Given the description of an element on the screen output the (x, y) to click on. 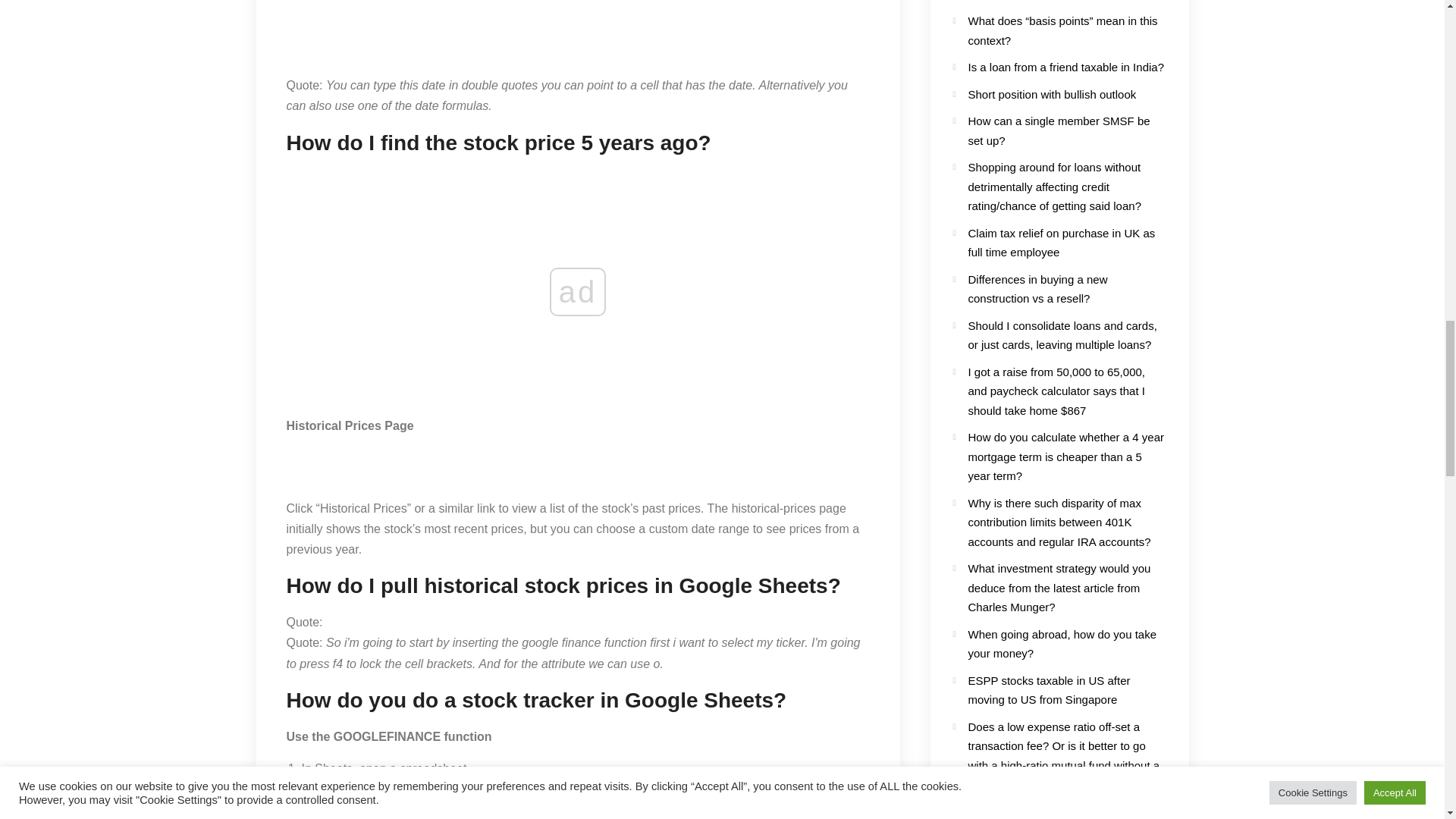
Short position with bullish outlook (1051, 93)
Claim tax relief on purchase in UK as full time employee (1061, 242)
How can a single member SMSF be set up? (1059, 130)
Is a loan from a friend taxable in India? (1065, 66)
Differences in buying a new construction vs a resell? (1037, 288)
